Given the description of an element on the screen output the (x, y) to click on. 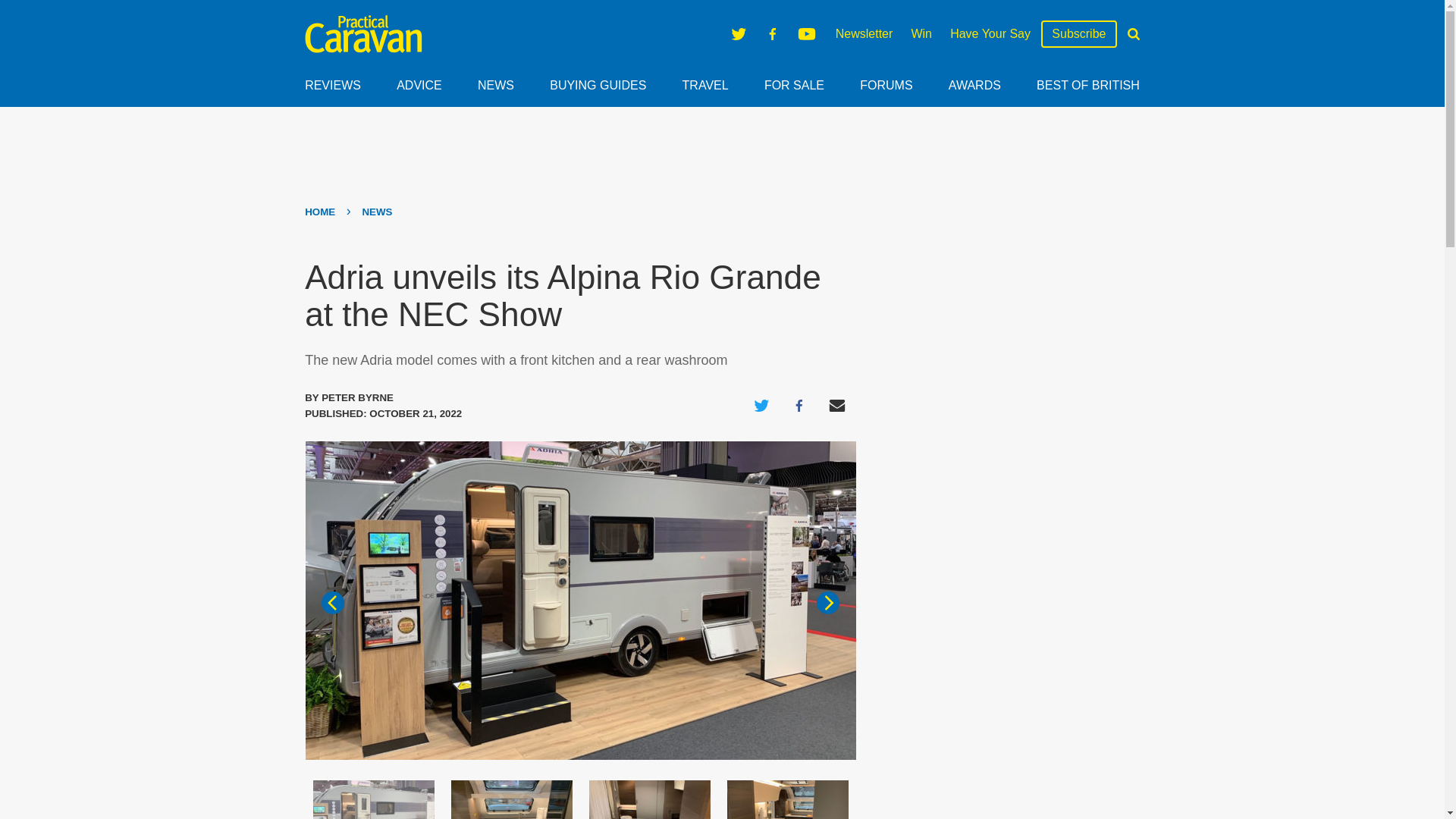
Have Your Say (990, 33)
Win (921, 33)
REVIEWS (332, 84)
TRAVEL (705, 84)
Newsletter (863, 33)
NEWS (495, 84)
BUYING GUIDES (598, 84)
Share on Facebook (799, 405)
ADVICE (419, 84)
Share on Twitter (761, 405)
Subscribe (1078, 34)
Share via Email (837, 405)
